Given the description of an element on the screen output the (x, y) to click on. 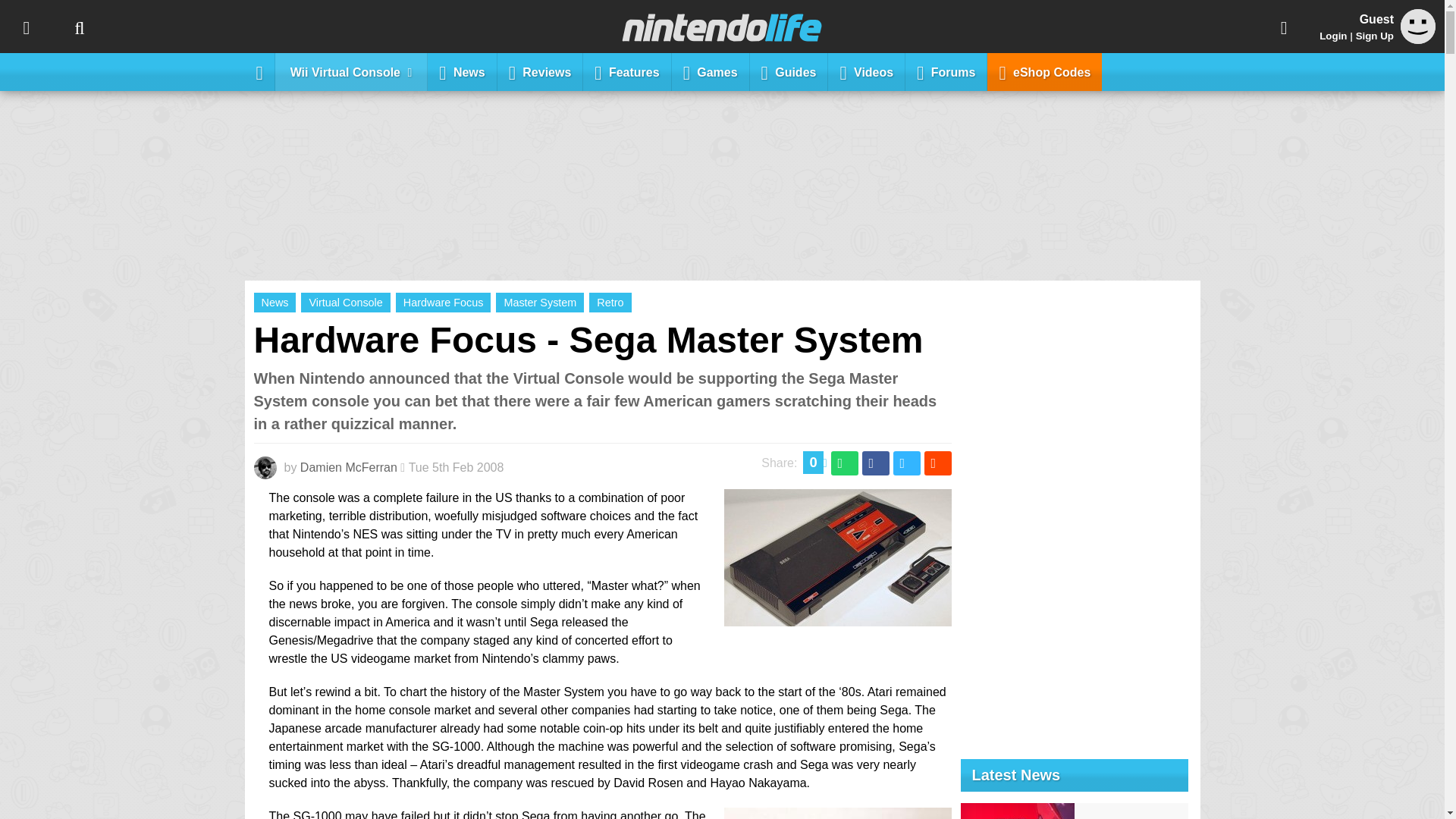
Guest (1417, 26)
Wii Virtual Console (351, 71)
Videos (866, 71)
Nintendo Life (721, 27)
eShop Codes (1044, 71)
Nintendo Life (721, 27)
Topics (26, 26)
Sign Up (1374, 35)
News (462, 71)
Reviews (540, 71)
Share This Page (1283, 26)
Login (1332, 35)
Guides (788, 71)
Search (79, 26)
Guest (1417, 39)
